Given the description of an element on the screen output the (x, y) to click on. 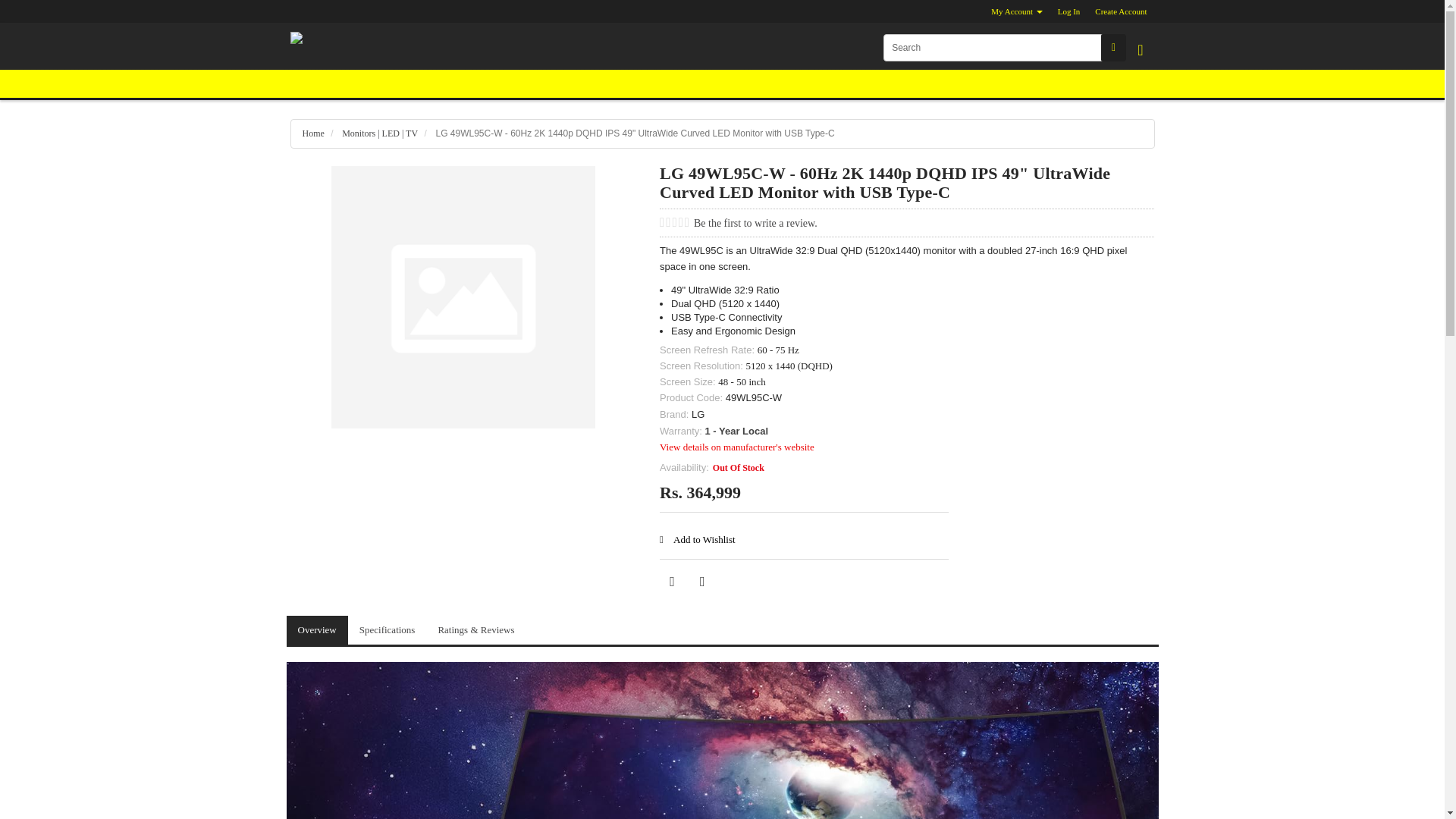
Home (312, 132)
Add to Wishlist (697, 539)
60 - 75 Hz (778, 349)
Be the first to write a review. (755, 223)
Share on Facebook (671, 581)
Specifications (386, 630)
Log In (1068, 11)
View details on manufacturer's website (736, 446)
Create Account (1120, 11)
48 - 50 inch (741, 381)
Share on Twitter (702, 581)
Overview (316, 630)
Add to Wishlist (697, 539)
My Account (1016, 11)
